Given the description of an element on the screen output the (x, y) to click on. 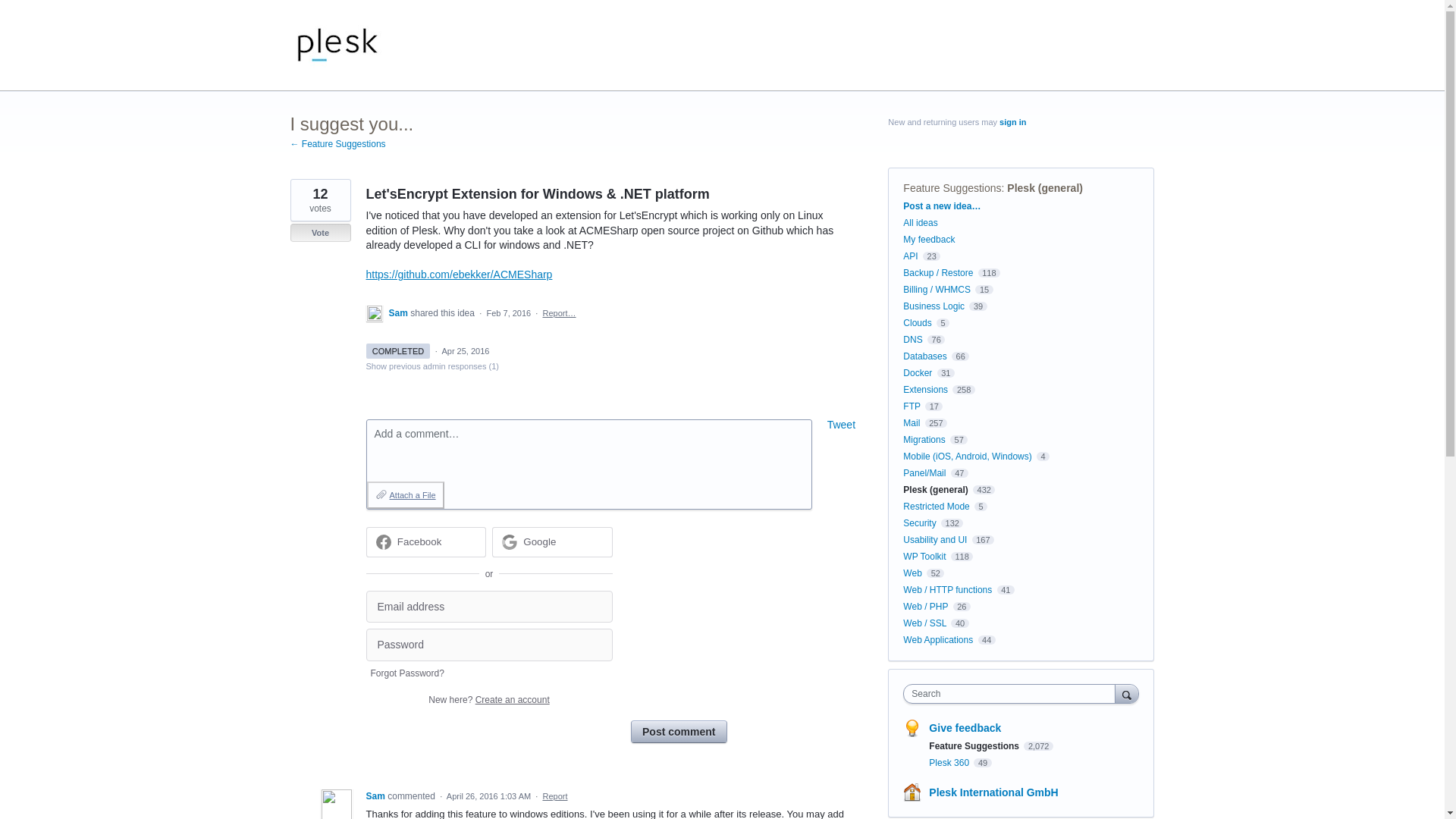
Facebook (425, 542)
Google sign in (552, 542)
Skip to content (12, 12)
COMPLETED (397, 350)
New here? Create an account (488, 699)
Idea has been closed (319, 232)
Post comment (678, 731)
Attach a File (405, 494)
Your Ideas for Plesk (336, 45)
Google (552, 542)
Vote (319, 232)
Report (554, 795)
Facebook (419, 541)
This idea is completed - updated over 8 years ago (397, 350)
Sam (399, 312)
